Given the description of an element on the screen output the (x, y) to click on. 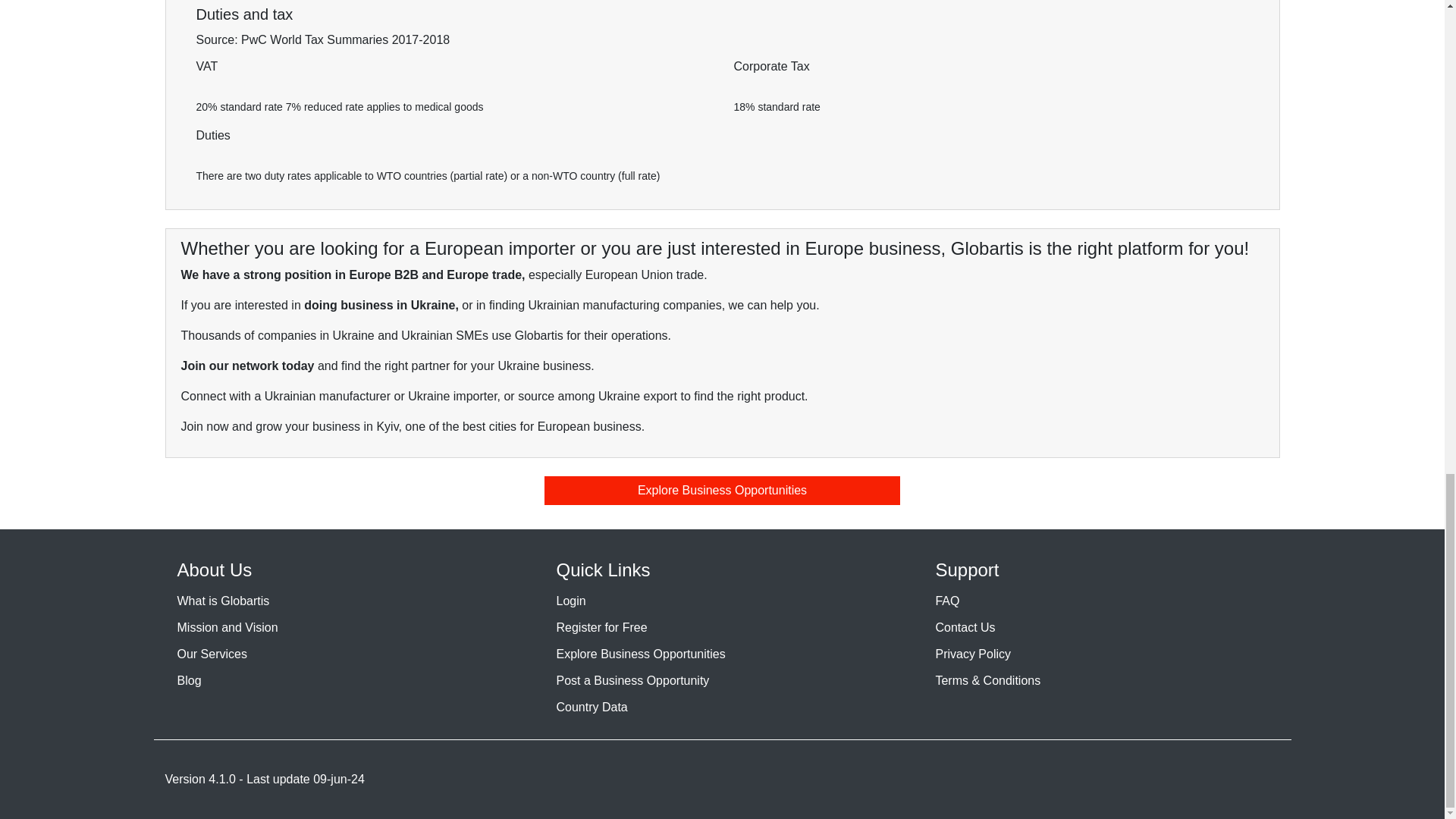
Contact Us (964, 626)
Register for Free (601, 626)
Country Data (591, 707)
Post a Business Opportunity (632, 680)
Our Services (212, 653)
FAQ (946, 600)
Explore Business Opportunities (722, 490)
Blog (189, 680)
Explore Business Opportunities (640, 653)
Login (570, 600)
